Given the description of an element on the screen output the (x, y) to click on. 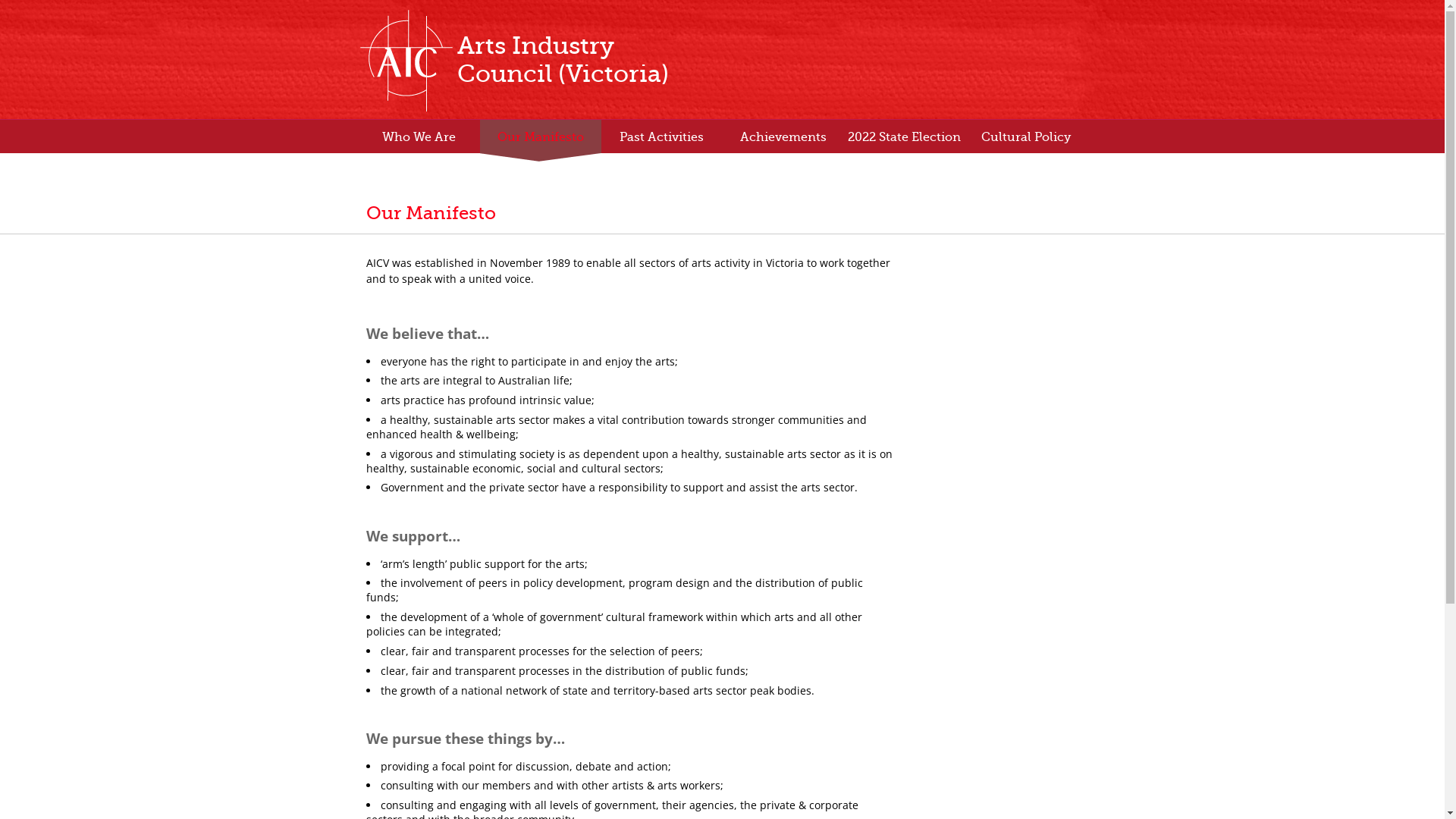
Who We Are Element type: text (418, 140)
Past Activities Element type: text (660, 140)
Our Manifesto Element type: text (539, 140)
Achievements Element type: text (782, 140)
Arts Industry Council (Victoria) Element type: text (524, 59)
2022 State Election Element type: text (903, 140)
Cultural Policy Element type: text (1024, 140)
